Given the description of an element on the screen output the (x, y) to click on. 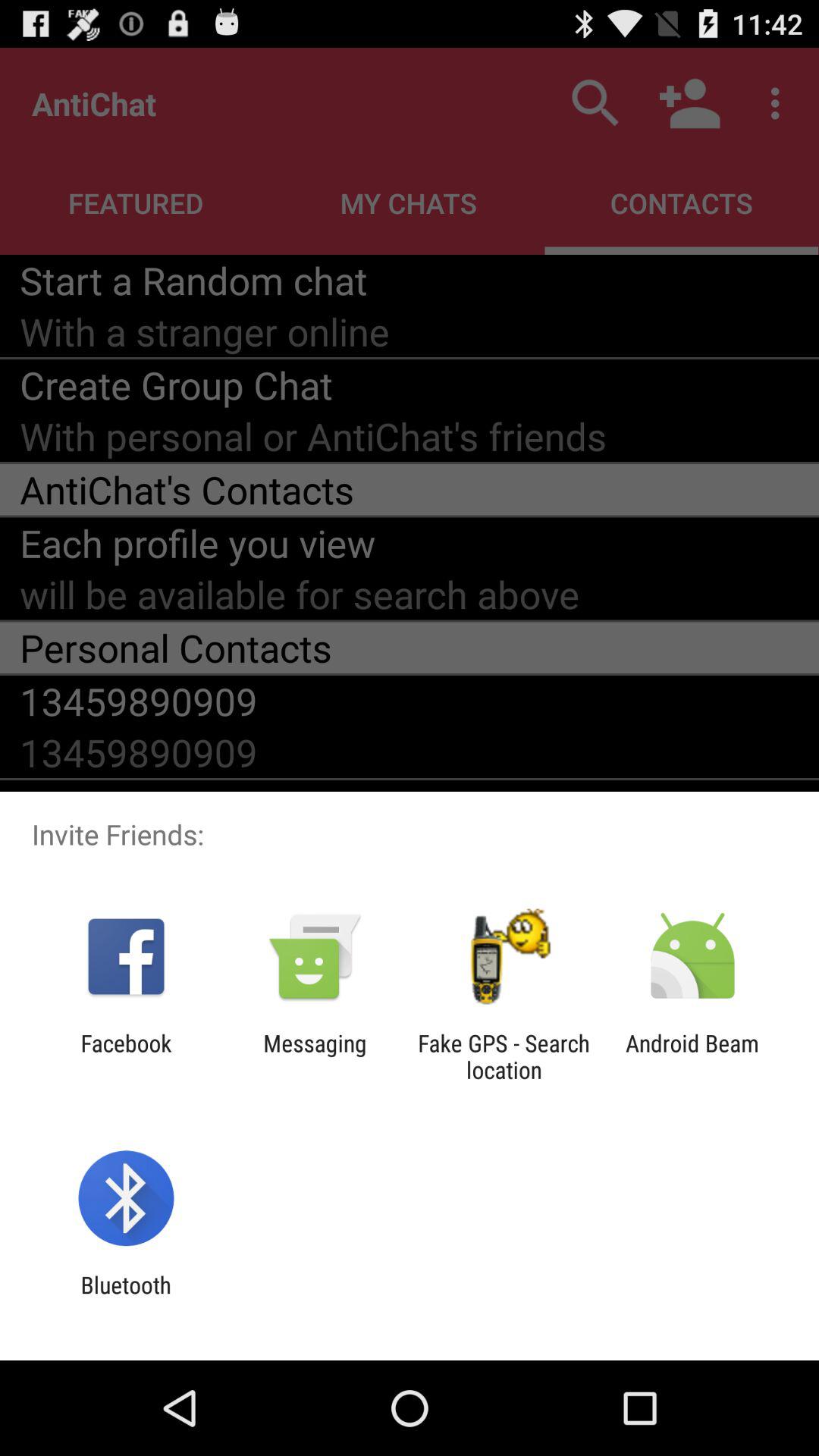
click facebook (125, 1056)
